Given the description of an element on the screen output the (x, y) to click on. 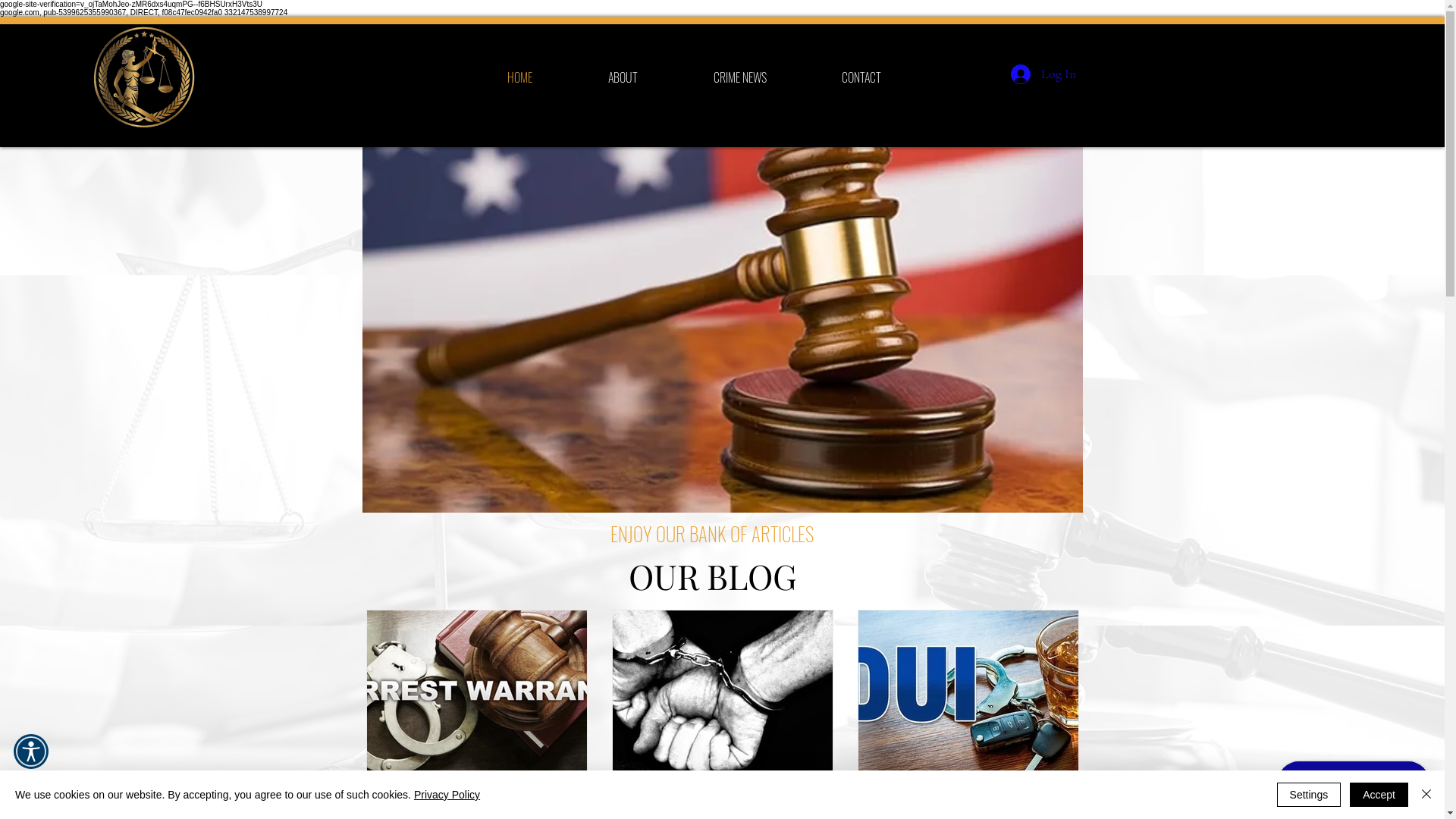
CONTACT Element type: text (860, 77)
ABOUT Element type: text (622, 77)
916156_63f5ec2843fa4ce7b87049e0794a7cf3~mv2.jpg Element type: hover (722, 309)
CRIME NEWS Element type: text (739, 77)
Settings Element type: text (1309, 794)
Privacy Policy Element type: text (447, 794)
Log In Element type: text (1042, 74)
Accept Element type: text (1378, 794)
HOME Element type: text (519, 77)
